Given the description of an element on the screen output the (x, y) to click on. 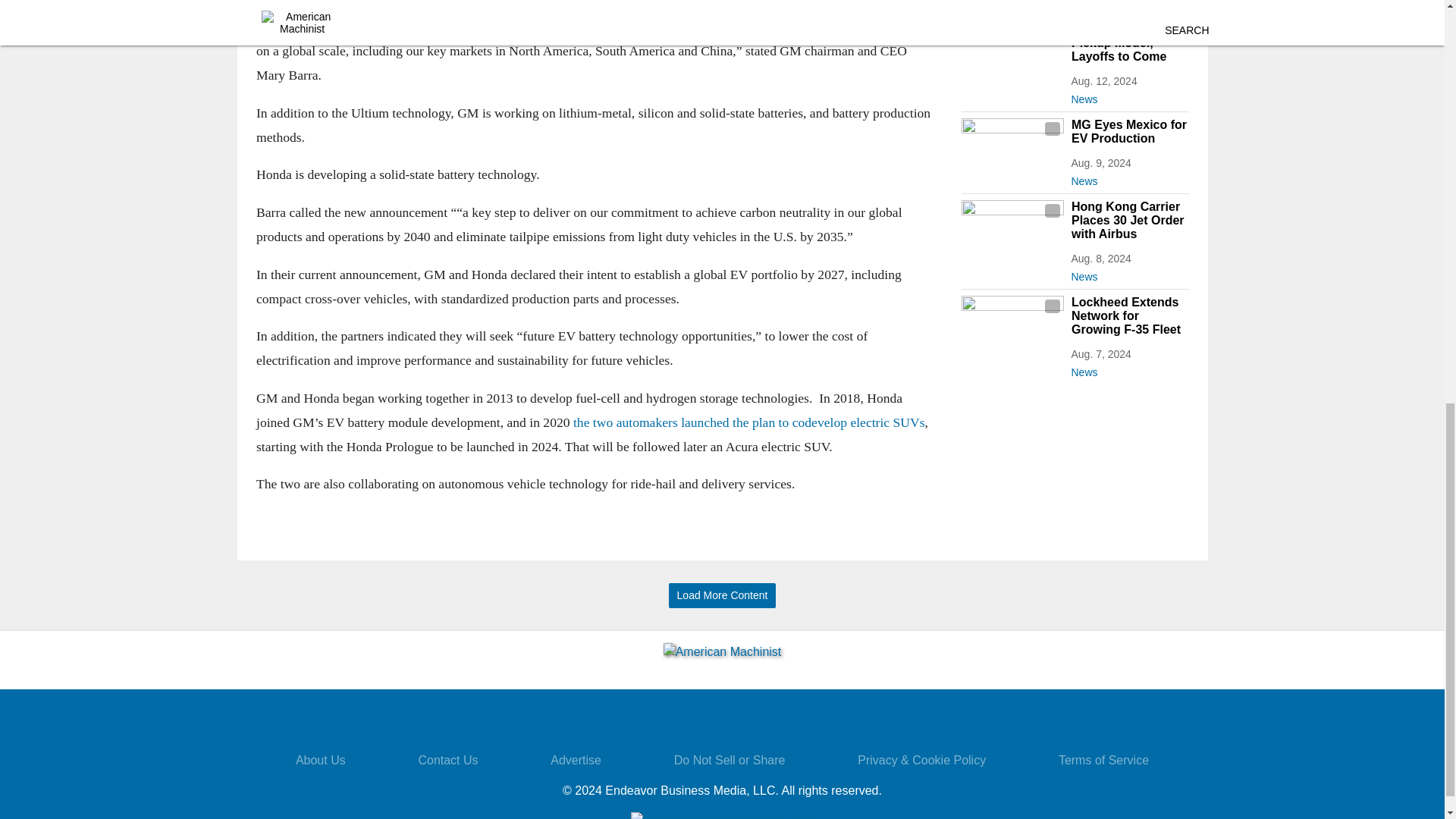
News (1129, 273)
Contact Us (447, 759)
News (1129, 369)
Terms of Service (1103, 759)
News (1129, 95)
About Us (320, 759)
Load More Content (722, 595)
MG Eyes Mexico for EV Production (1129, 131)
Hong Kong Carrier Places 30 Jet Order with Airbus (1129, 219)
